Given the description of an element on the screen output the (x, y) to click on. 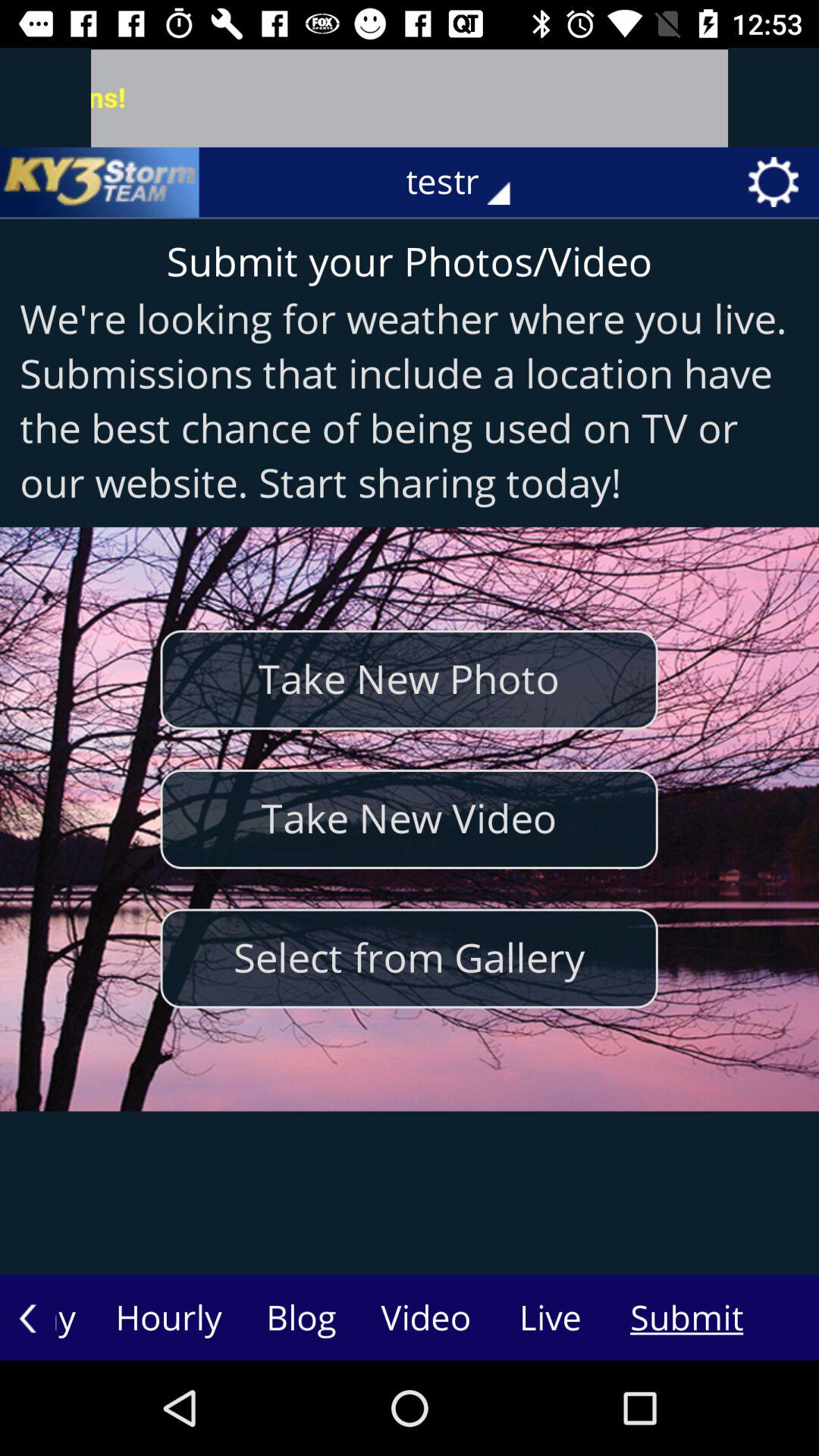
scroll to select from gallery icon (409, 958)
